Given the description of an element on the screen output the (x, y) to click on. 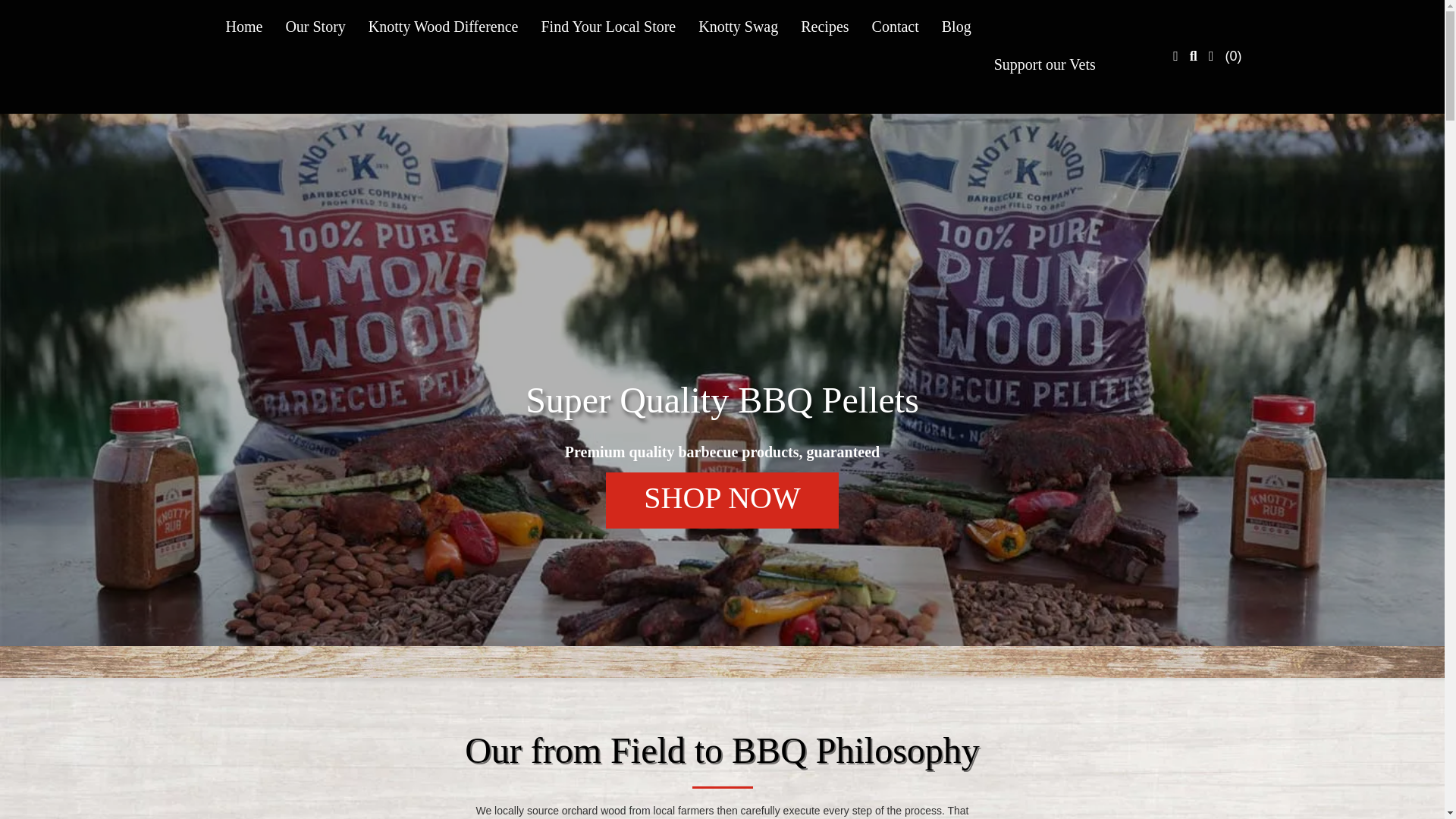
Our Story (314, 26)
Knotty Wood Difference (442, 26)
SHOP NOW (721, 500)
Find Your Local Store (608, 26)
Contact (895, 26)
Blog (956, 26)
Knotty Swag (738, 26)
Recipes (824, 26)
Home (243, 26)
Support our Vets (1044, 64)
